Given the description of an element on the screen output the (x, y) to click on. 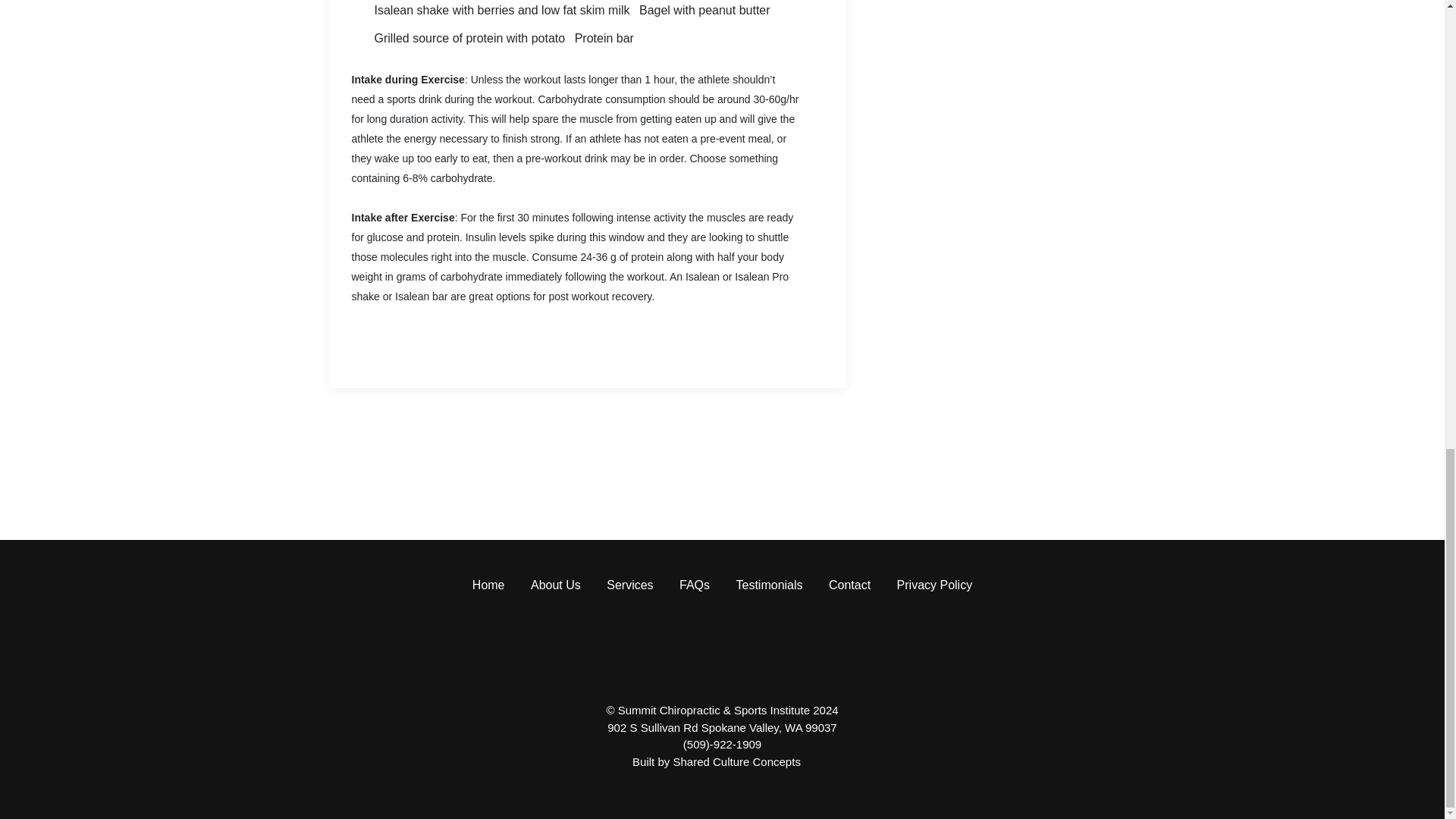
Home (488, 584)
FAQs (694, 584)
Website built by Shared Culture Concepts (741, 761)
Contact (849, 584)
About Us (555, 584)
Services (629, 584)
Privacy Policy (934, 584)
Testimonials (769, 584)
